Given the description of an element on the screen output the (x, y) to click on. 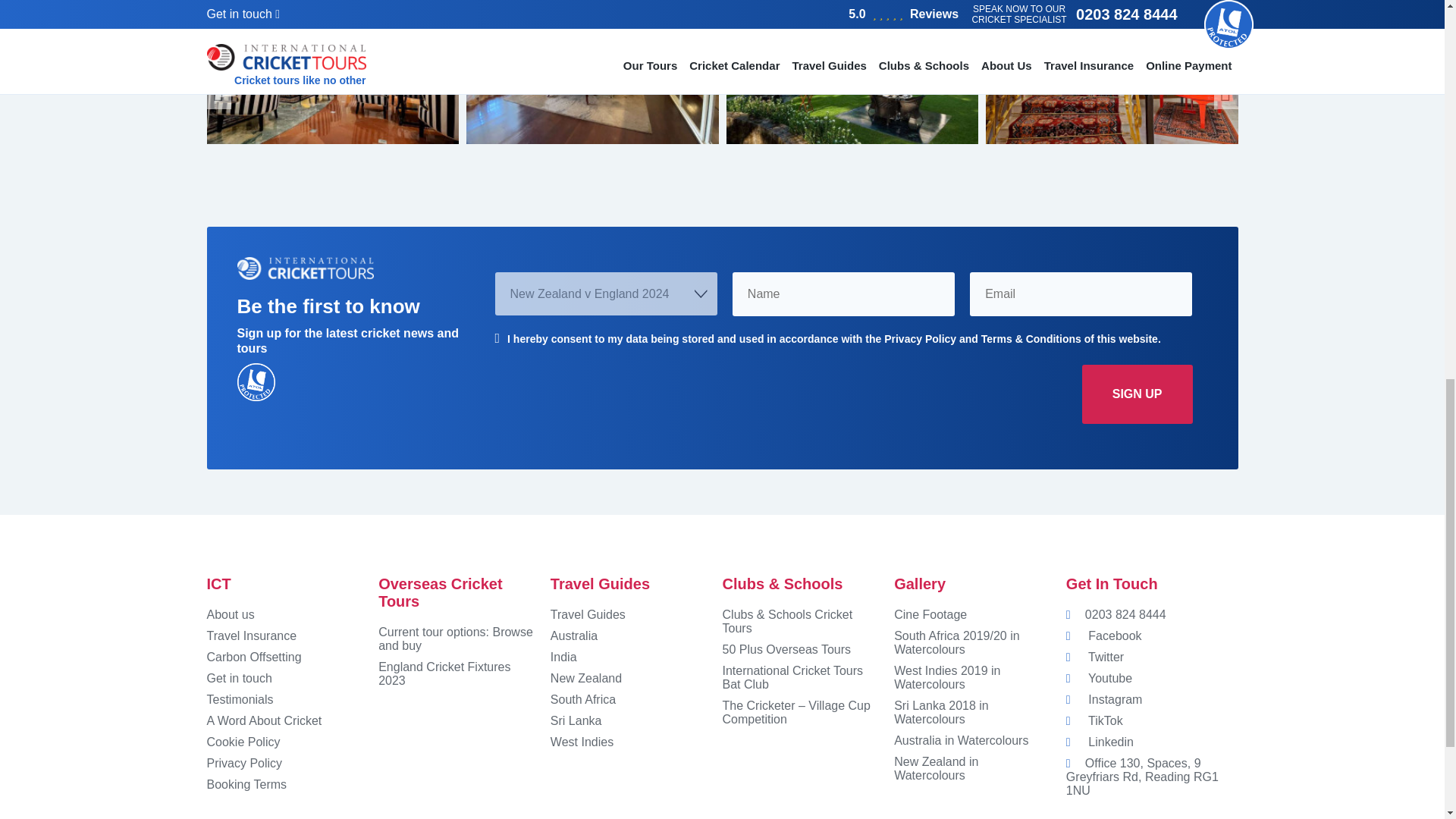
Sign up (1136, 394)
